Given the description of an element on the screen output the (x, y) to click on. 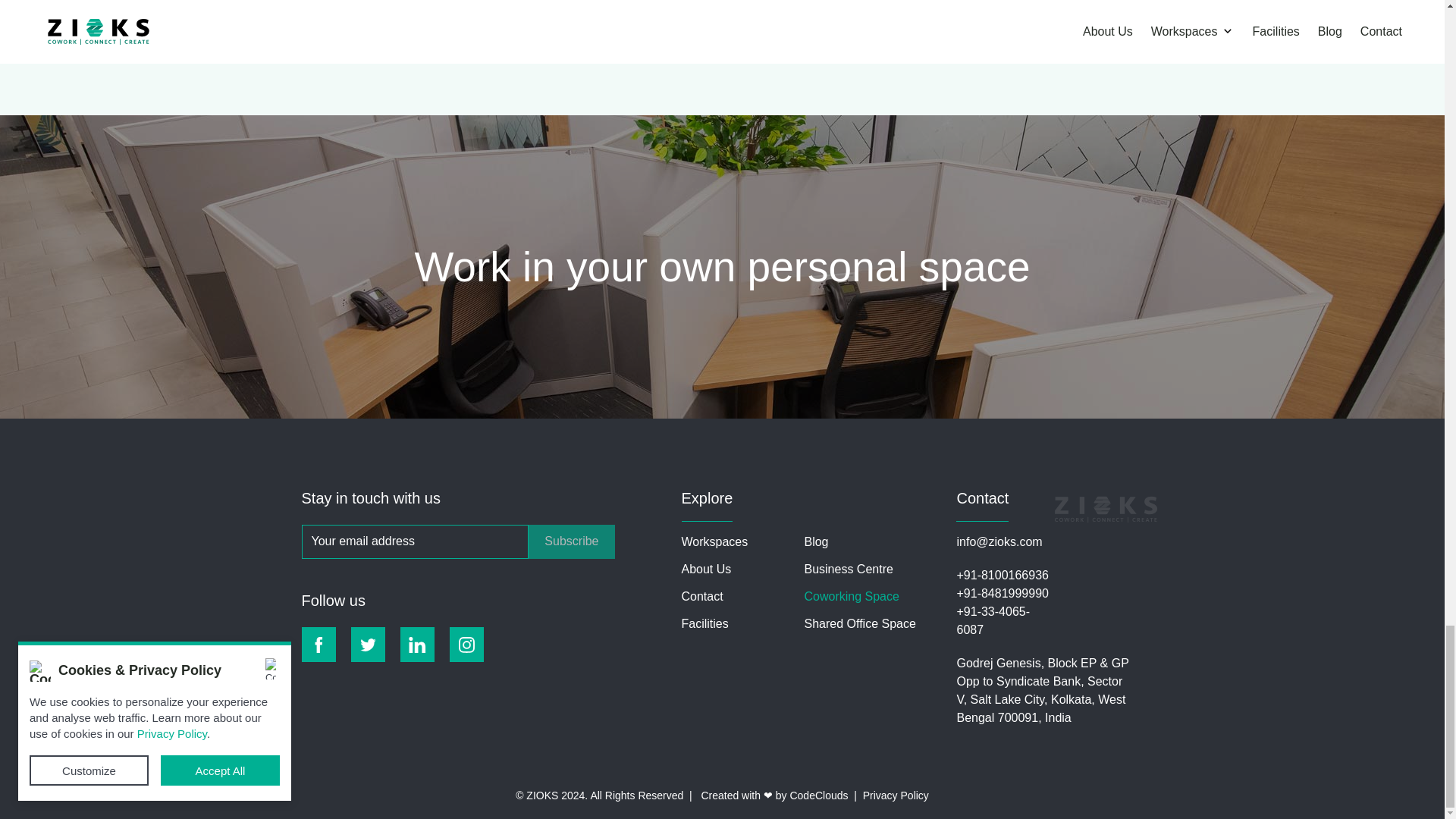
5 Fun Ideas To Build a Community In a Coworking Space (1010, 5)
ZIOKS (630, 29)
Facilities (704, 623)
About Us (705, 568)
ZIOKS (342, 29)
Coworking Space (850, 595)
Workspaces (714, 541)
CodeClouds (818, 795)
Subscribe (571, 541)
Privacy Policy (895, 795)
Shared Office Space (859, 623)
Blog (815, 541)
ZIOKS (919, 29)
Business Centre (847, 568)
